Given the description of an element on the screen output the (x, y) to click on. 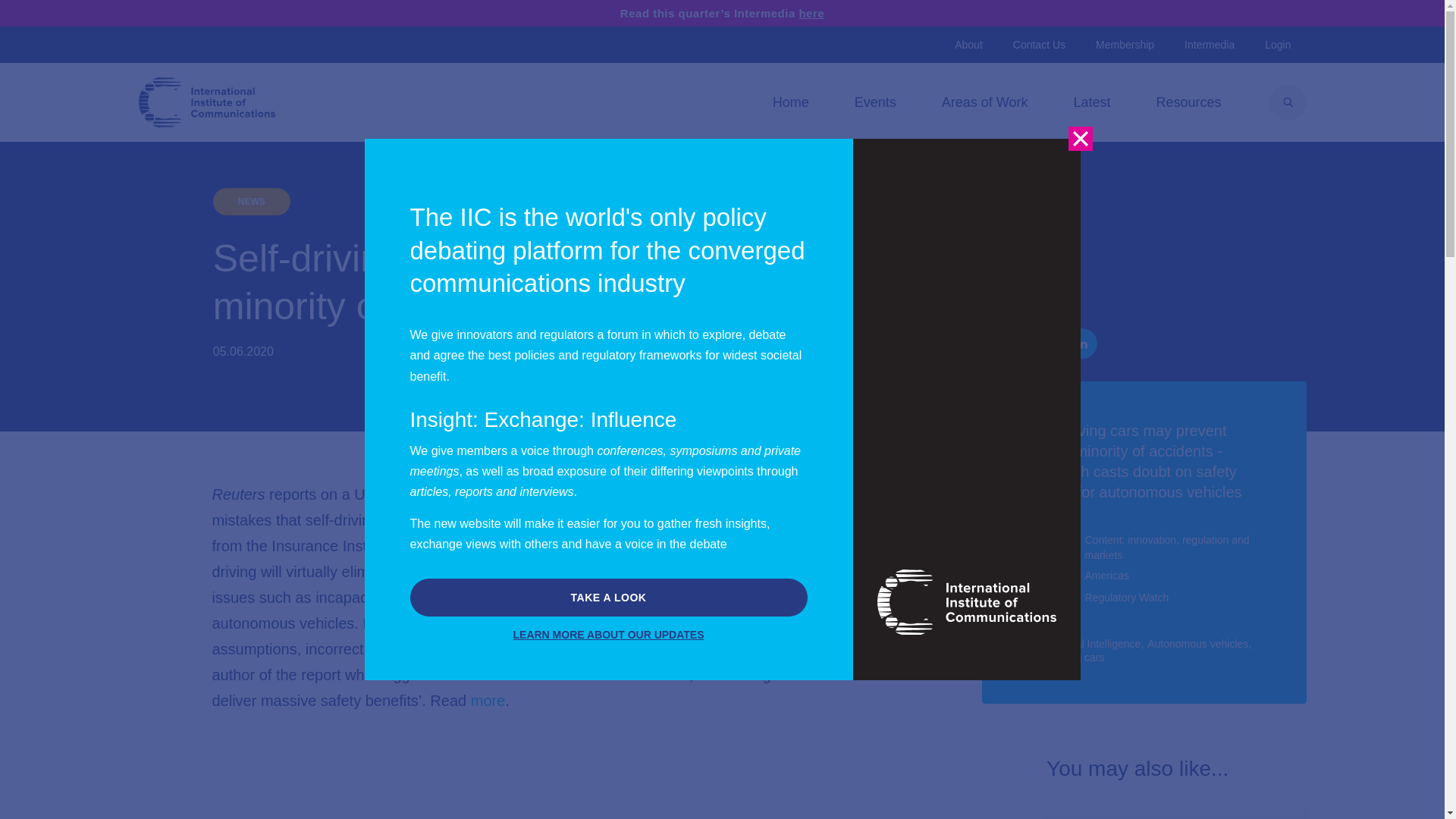
Latest (1091, 101)
Login (1277, 44)
Membership (1124, 44)
Intermedia (1209, 44)
Contact Us (1038, 44)
Home (791, 101)
About (968, 44)
Areas of Work (984, 101)
here (810, 12)
Events (875, 101)
Resources (1187, 101)
